Given the description of an element on the screen output the (x, y) to click on. 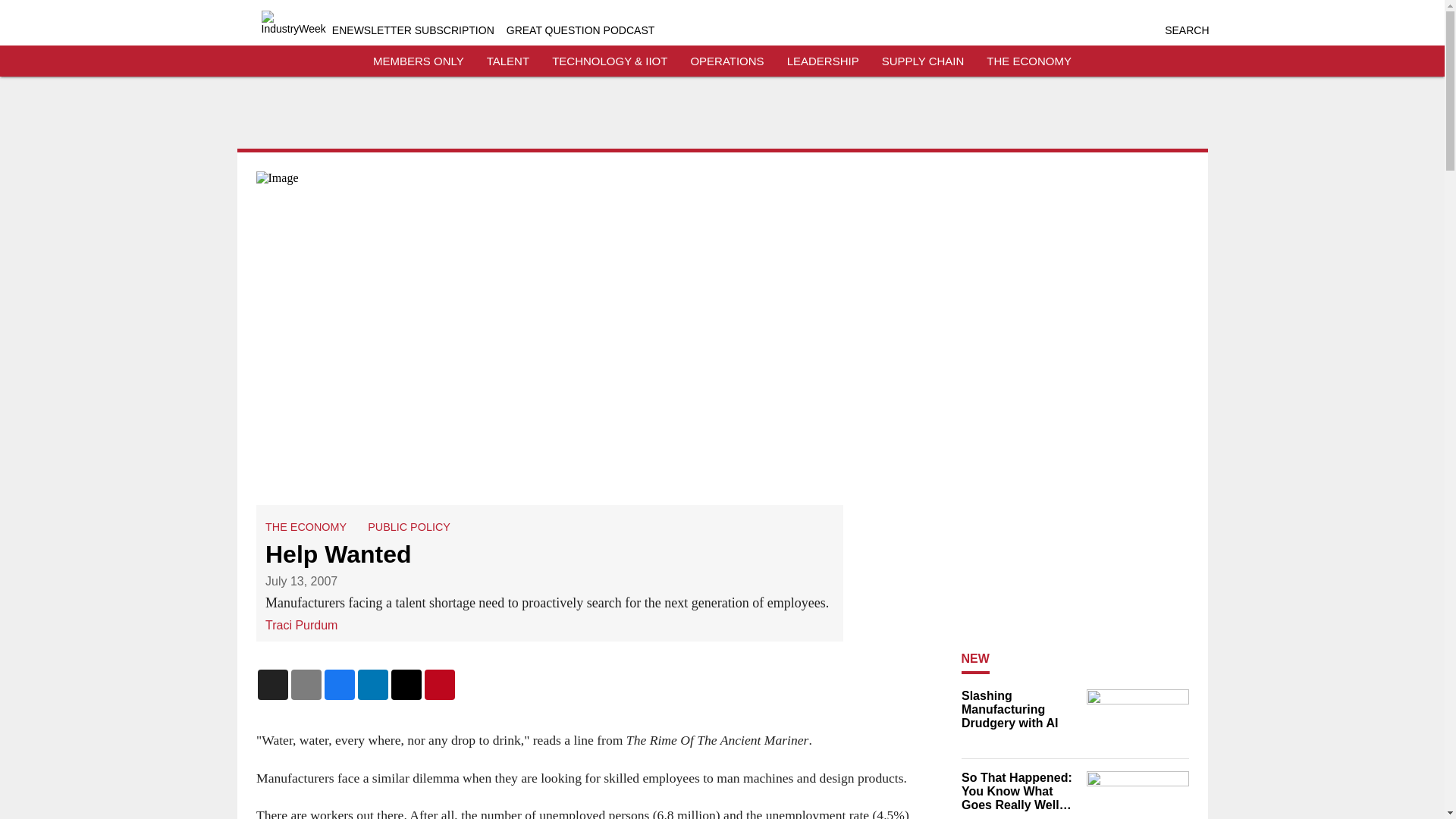
GREAT QUESTION PODCAST (580, 30)
THE ECONOMY (1029, 60)
SUPPLY CHAIN (922, 60)
Traci Purdum (300, 625)
LEADERSHIP (823, 60)
ENEWSLETTER SUBSCRIPTION (413, 30)
OPERATIONS (726, 60)
TALENT (507, 60)
SEARCH (1186, 30)
